Given the description of an element on the screen output the (x, y) to click on. 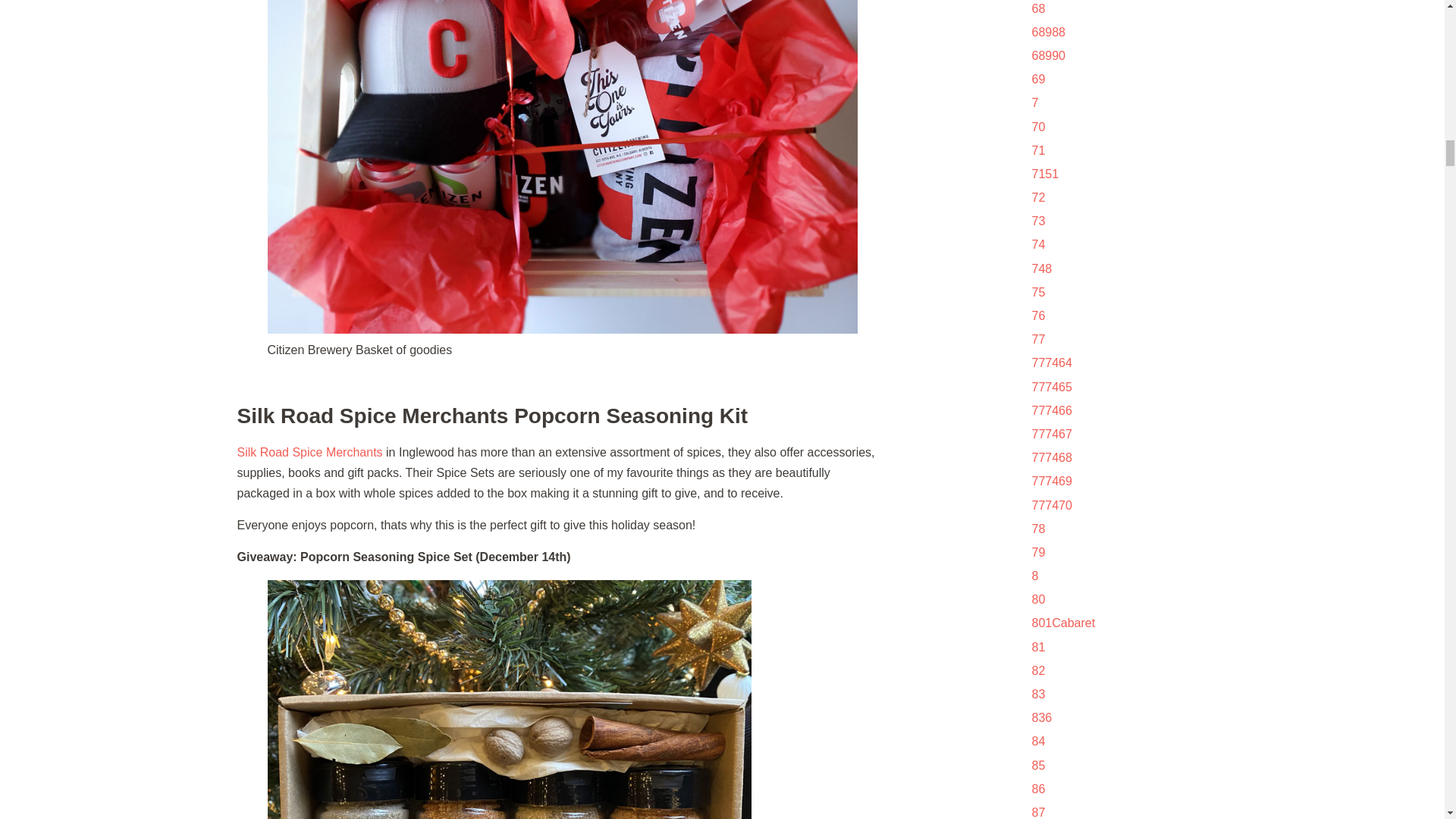
Silk Road Spice Merchants (308, 451)
